Given the description of an element on the screen output the (x, y) to click on. 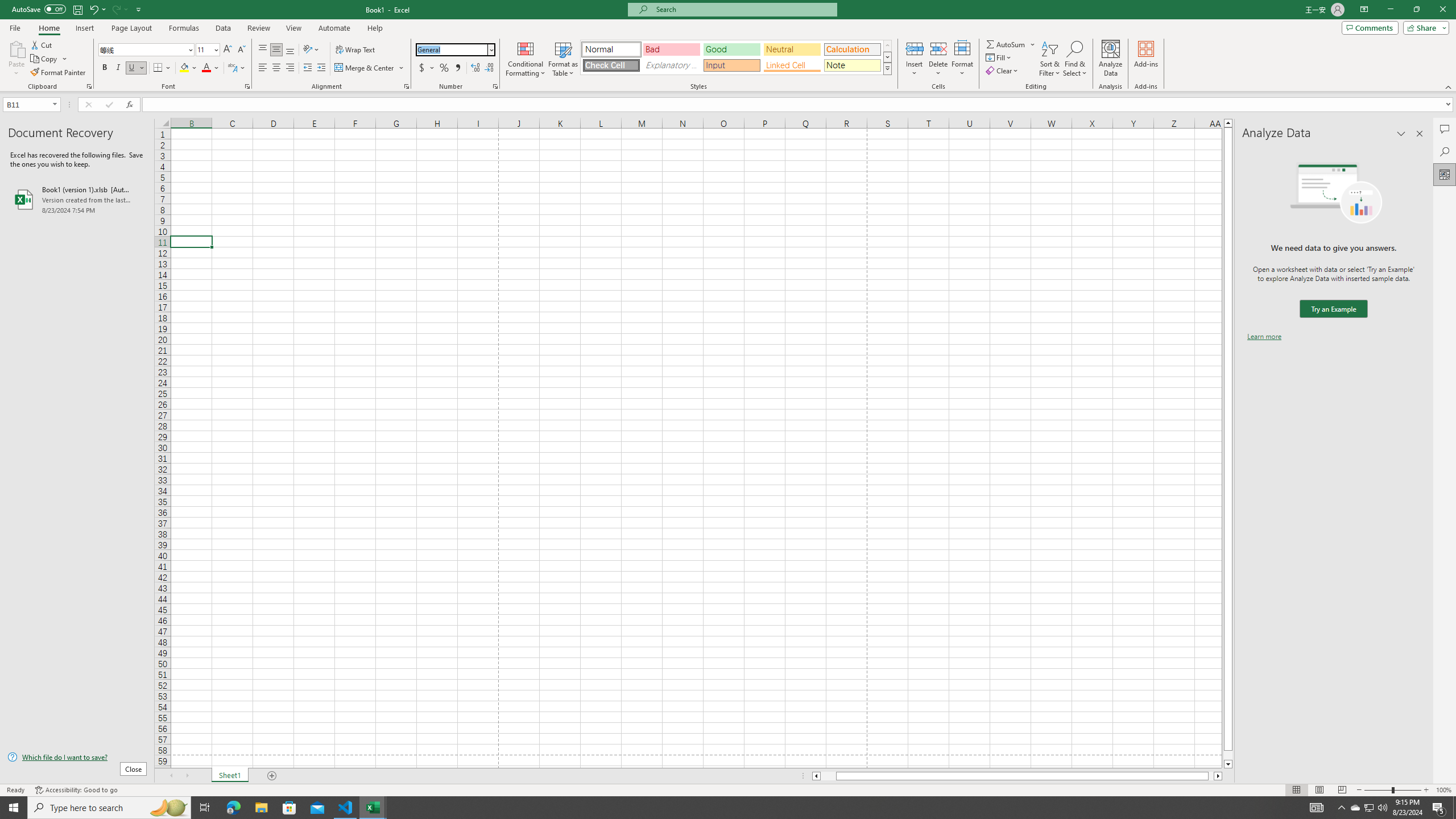
Sum (1006, 44)
Percent Style (443, 67)
Font (142, 49)
Align Left (262, 67)
Bold (104, 67)
Font Color (210, 67)
Calculation (852, 49)
Fill Color (188, 67)
Number Format (455, 49)
Bad (671, 49)
AutoSum (1011, 44)
